Given the description of an element on the screen output the (x, y) to click on. 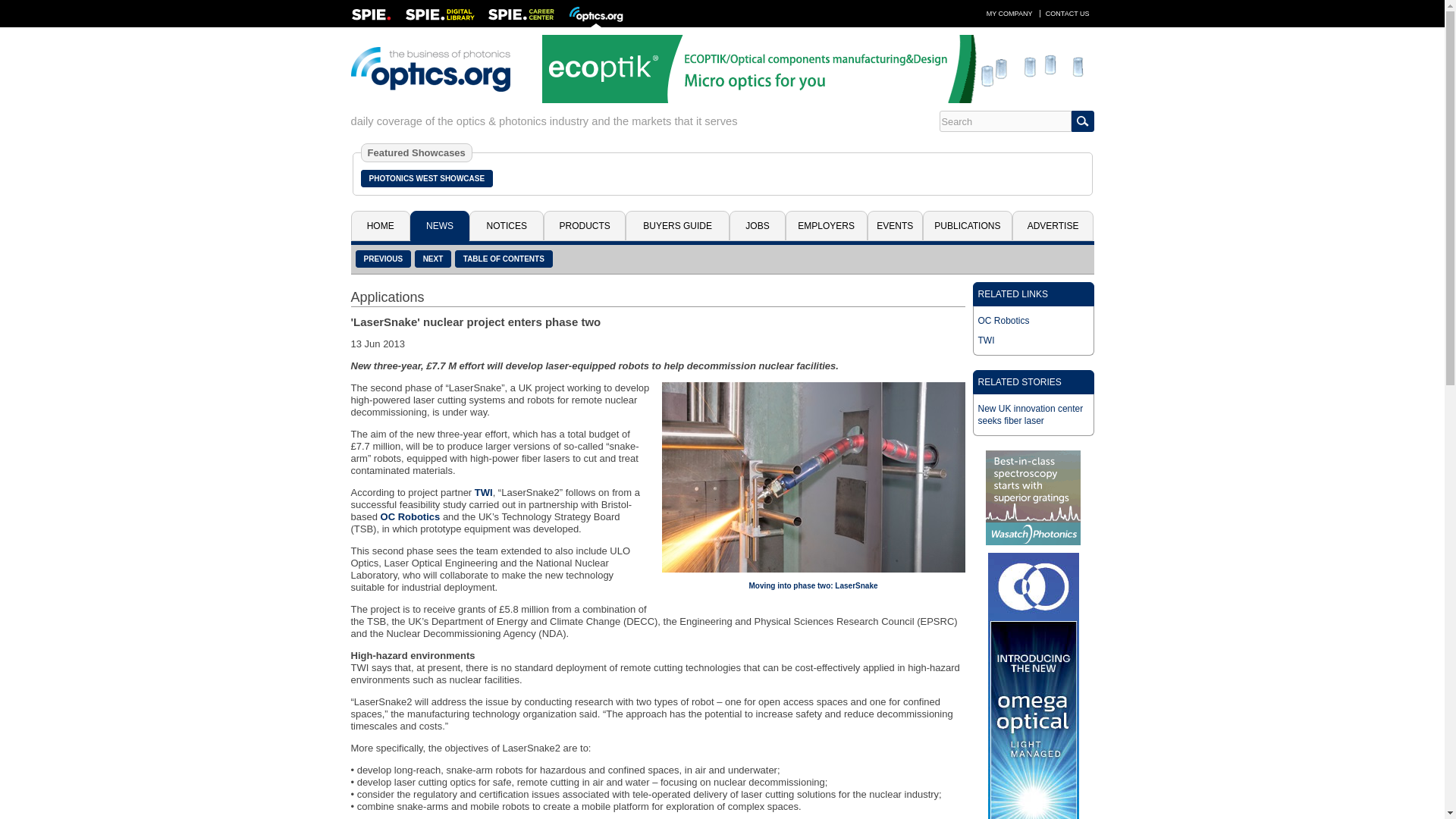
HOME (379, 225)
JOBS (757, 225)
NOTICES (505, 225)
PRODUCTS (584, 225)
BUYERS GUIDE (677, 225)
Moving into phase two: LaserSnake (812, 477)
Moving into phase two: LaserSnake (812, 585)
NEWS (439, 225)
Search (1004, 120)
MY COMPANY (1008, 13)
